Given the description of an element on the screen output the (x, y) to click on. 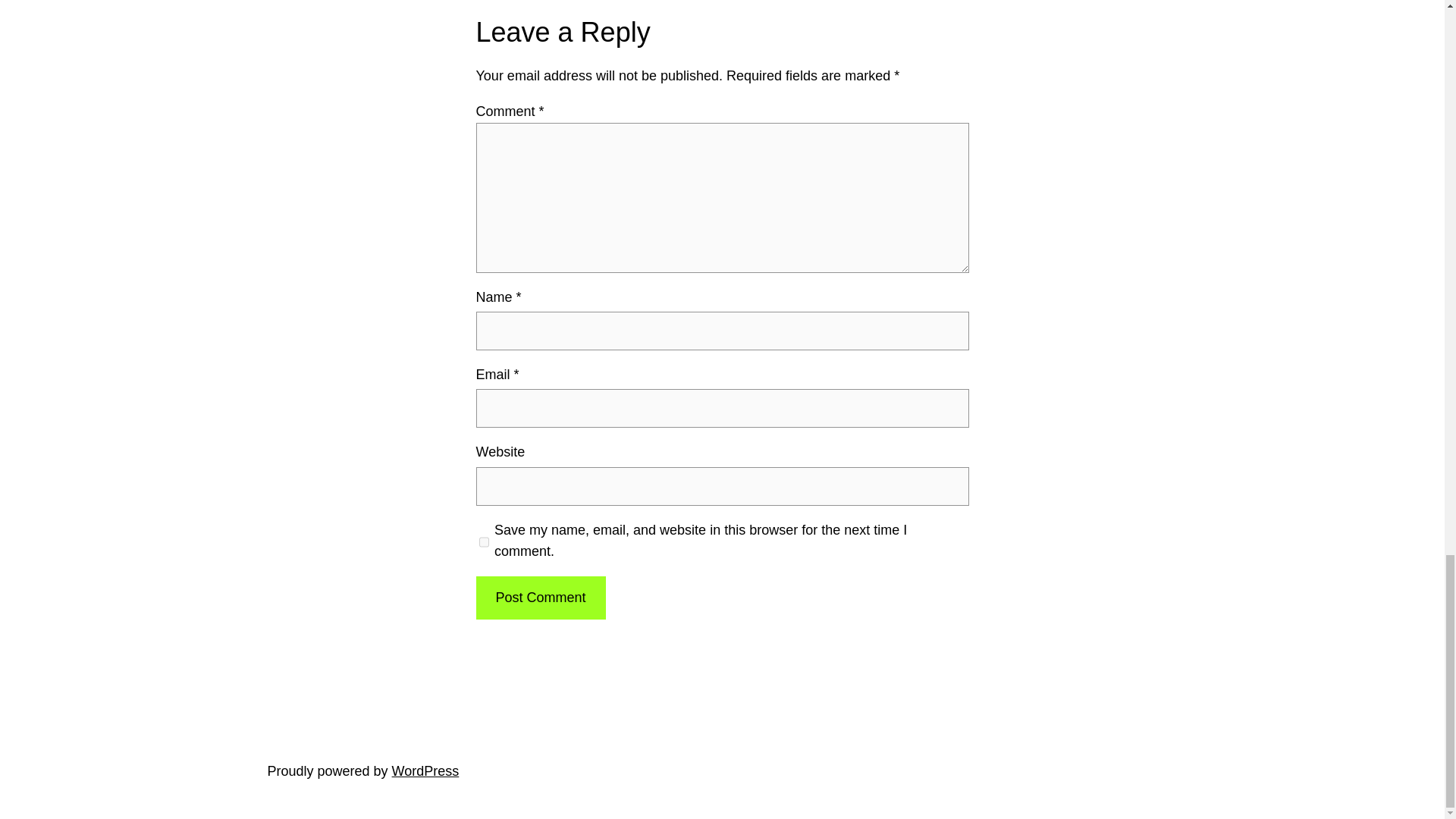
WordPress (425, 770)
Post Comment (540, 597)
Post Comment (540, 597)
